Given the description of an element on the screen output the (x, y) to click on. 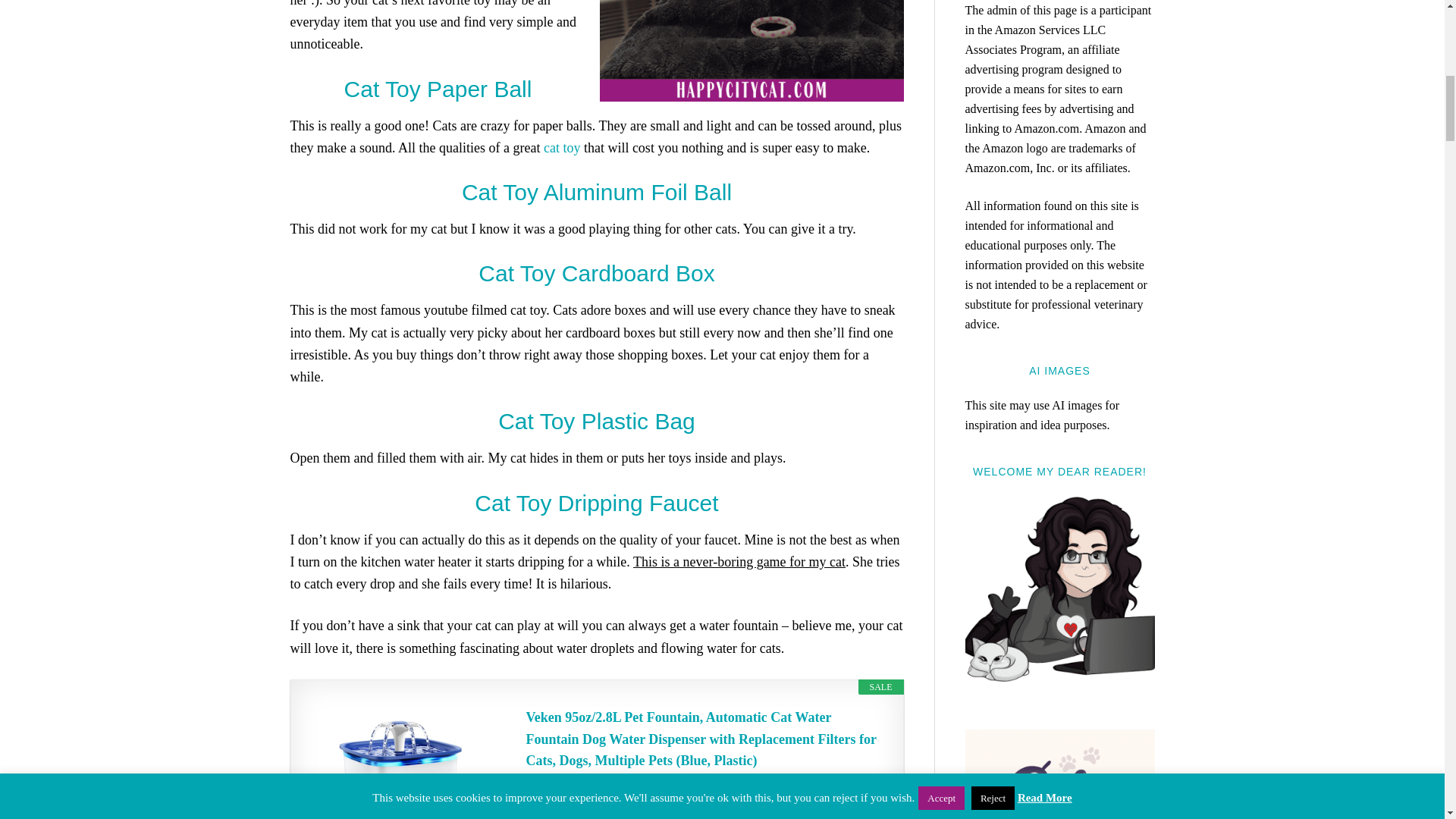
cat toy (561, 147)
